Given the description of an element on the screen output the (x, y) to click on. 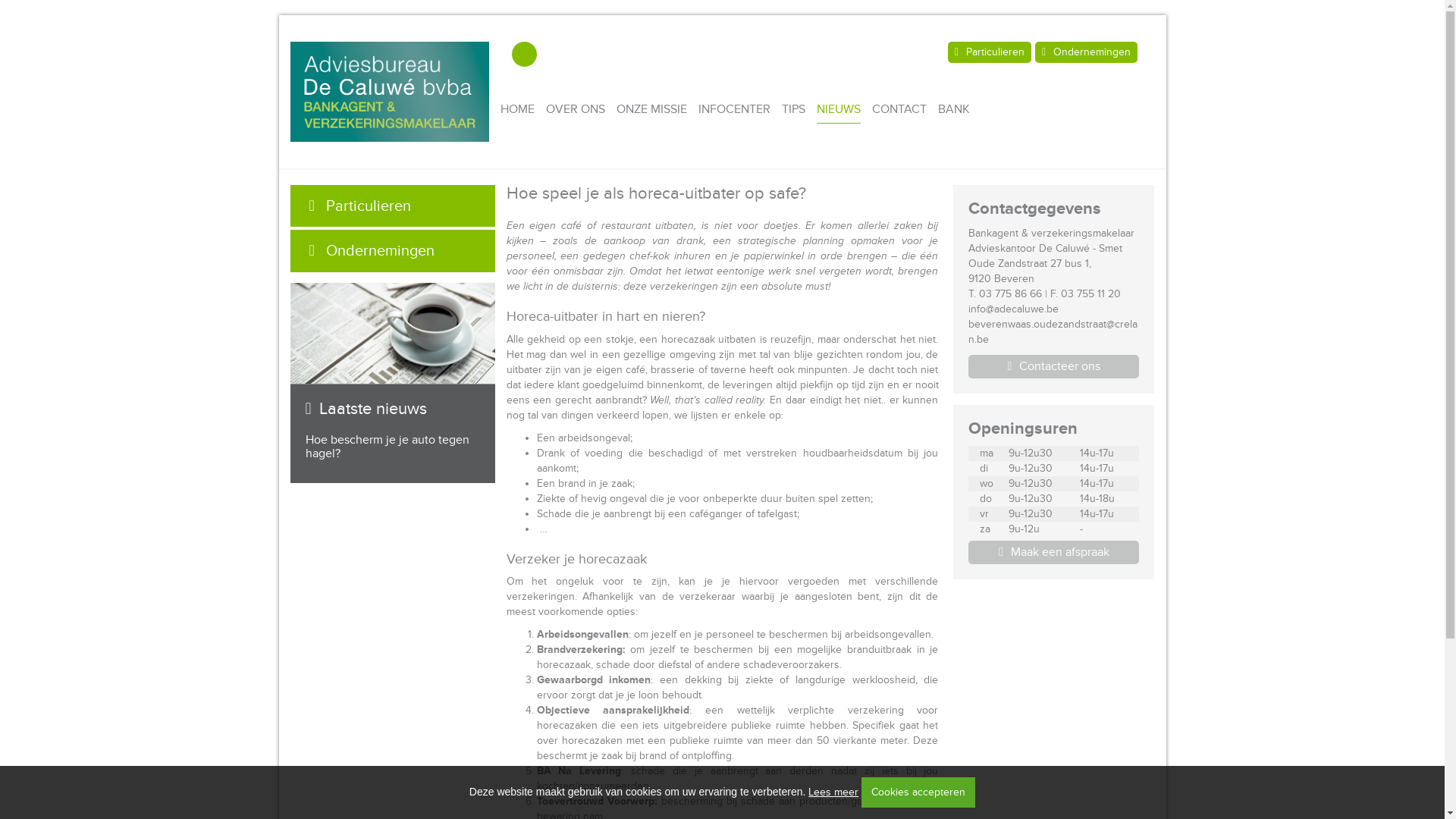
Contacteer ons Element type: text (1053, 366)
Ondernemingen Element type: text (1086, 51)
Latest news Element type: hover (391, 333)
NIEUWS Element type: text (838, 109)
TIPS Element type: text (793, 108)
Ondernemingen Element type: text (391, 250)
Lees meer Element type: text (833, 791)
Laatste nieuws
Hoe bescherm je je auto tegen hagel? Element type: text (391, 404)
INFOCENTER Element type: text (734, 108)
CONTACT Element type: text (899, 108)
Particulieren Element type: text (989, 51)
BANK Element type: text (953, 108)
beverenwaas.oudezandstraat@crelan.be Element type: text (1052, 331)
ONZE MISSIE Element type: text (651, 108)
info@adecaluwe.be Element type: text (1013, 308)
Search Element type: text (523, 53)
HOME Element type: text (517, 108)
Cookies accepteren Element type: text (918, 792)
OVER ONS Element type: text (575, 108)
Particulieren Element type: text (391, 206)
Maak een afspraak Element type: text (1053, 552)
